Given the description of an element on the screen output the (x, y) to click on. 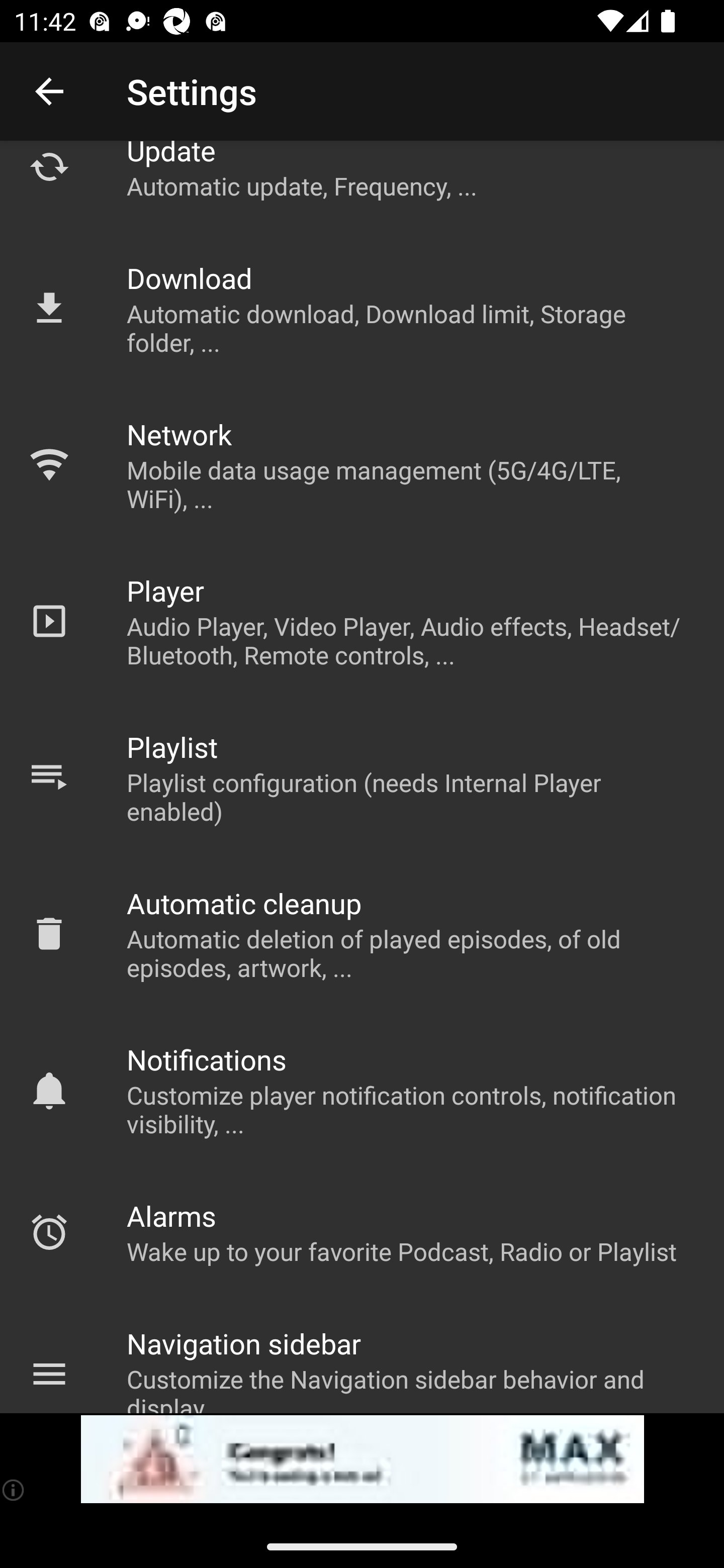
Navigate up (49, 91)
Update Automatic update, Frequency, ... (362, 185)
app-monetization (362, 1459)
(i) (14, 1489)
